Given the description of an element on the screen output the (x, y) to click on. 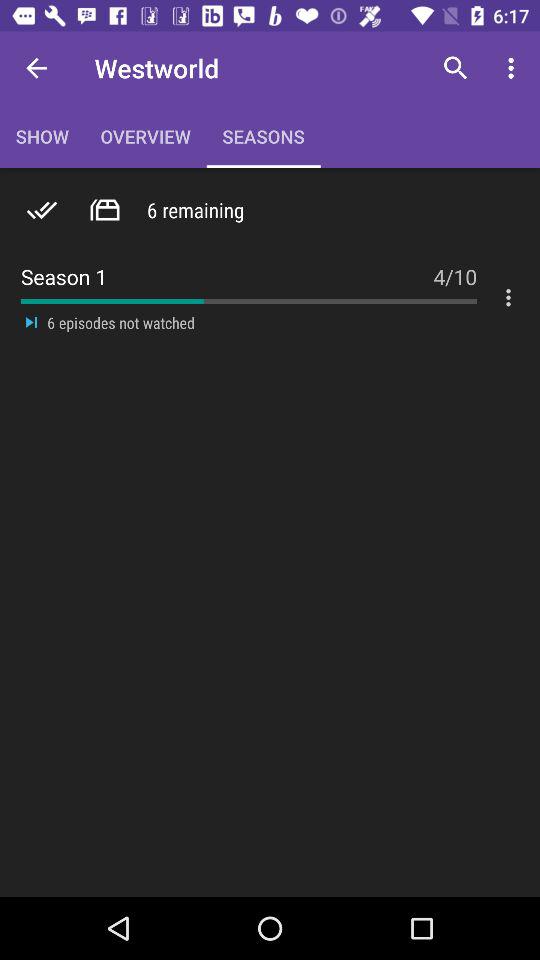
choose item to the left of the overview item (36, 68)
